Given the description of an element on the screen output the (x, y) to click on. 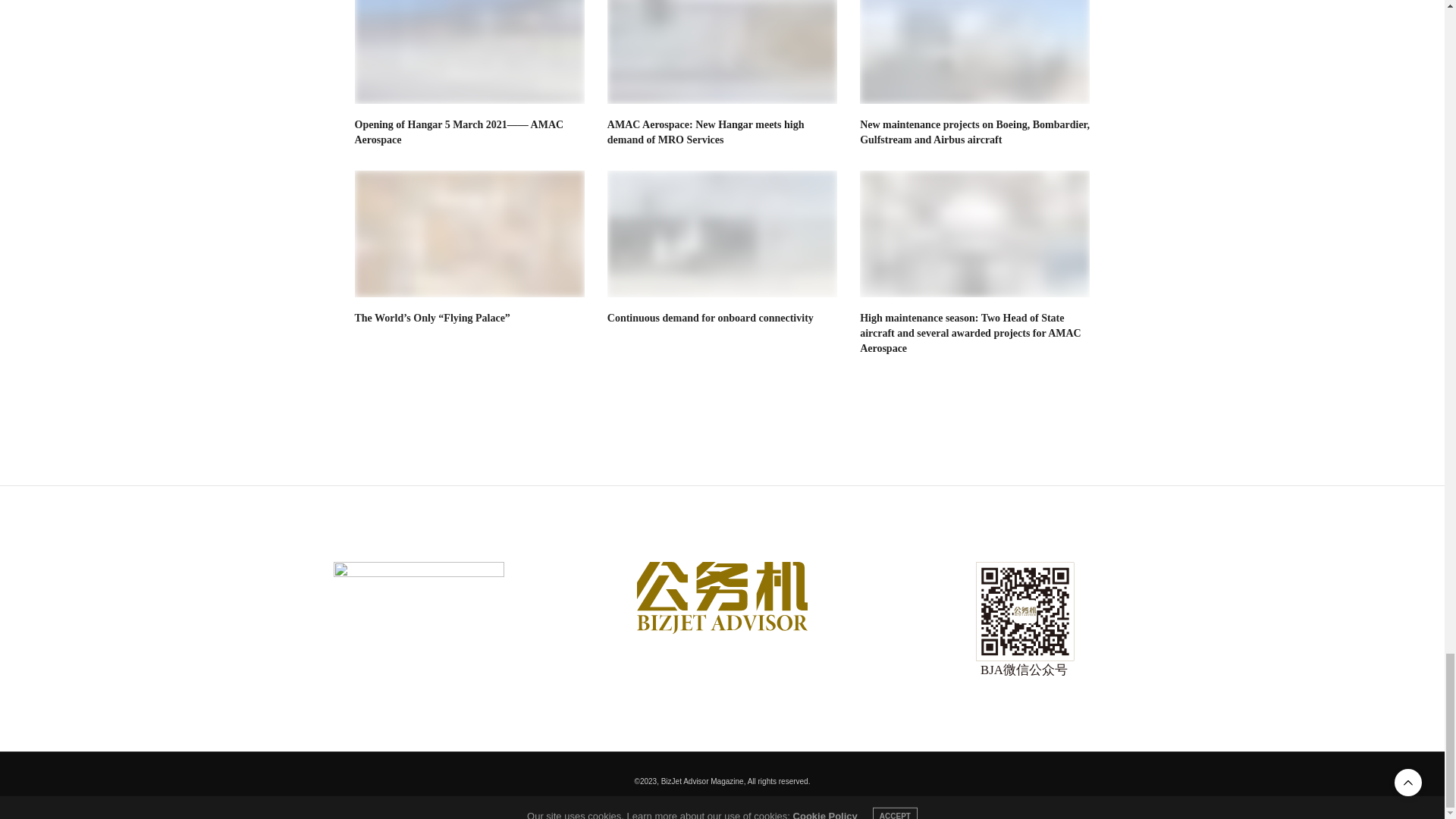
Continuous demand for onboard connectivity (722, 233)
Continuous demand for onboard connectivity (710, 317)
AMAC Aerospace: New Hangar meets high demand of MRO Services (722, 52)
AMAC Aerospace: New Hangar meets high demand of MRO Services (706, 131)
